Given the description of an element on the screen output the (x, y) to click on. 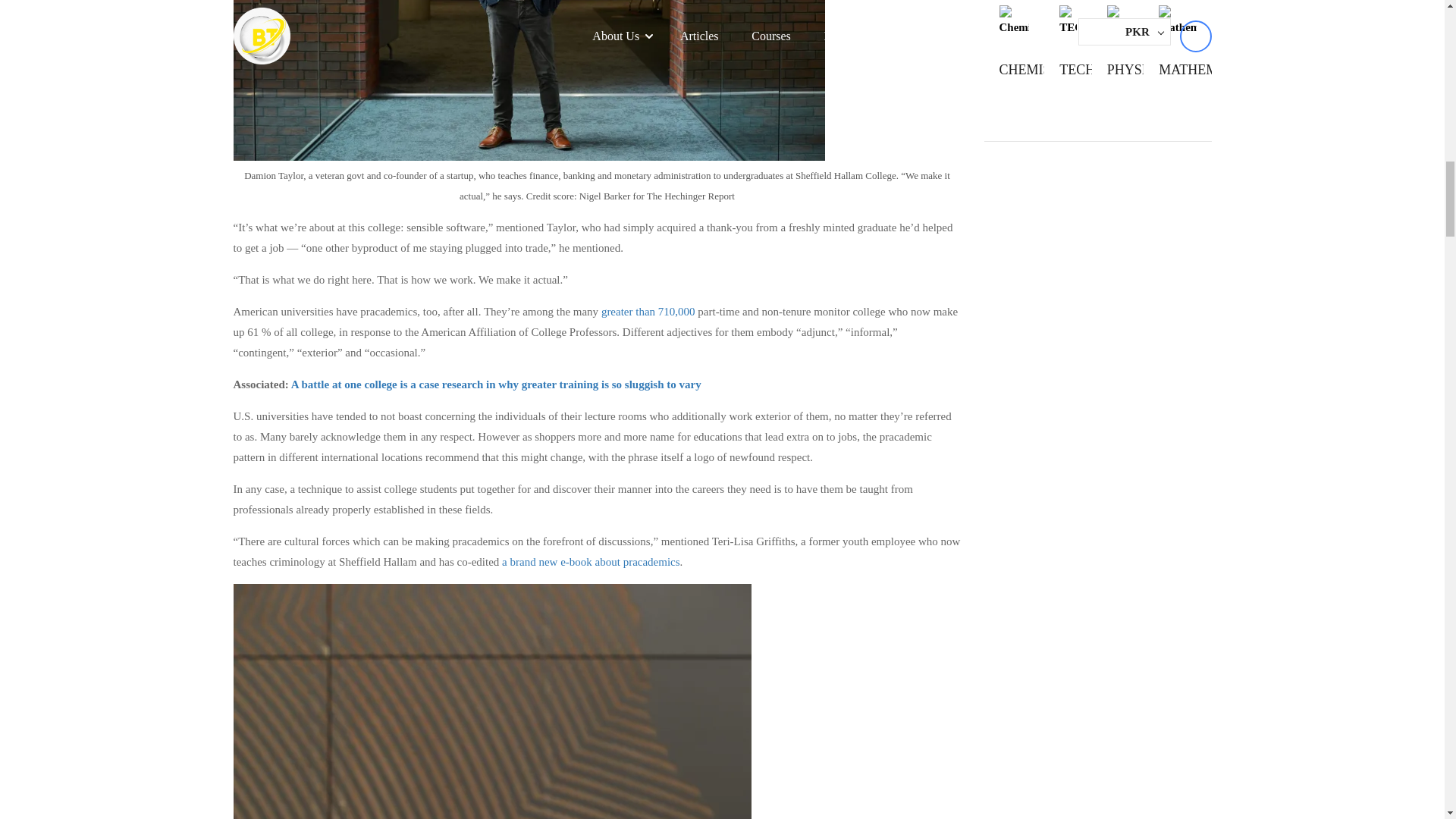
greater than 710,000 (648, 311)
a brand new e-book about pracademics (590, 562)
